Given the description of an element on the screen output the (x, y) to click on. 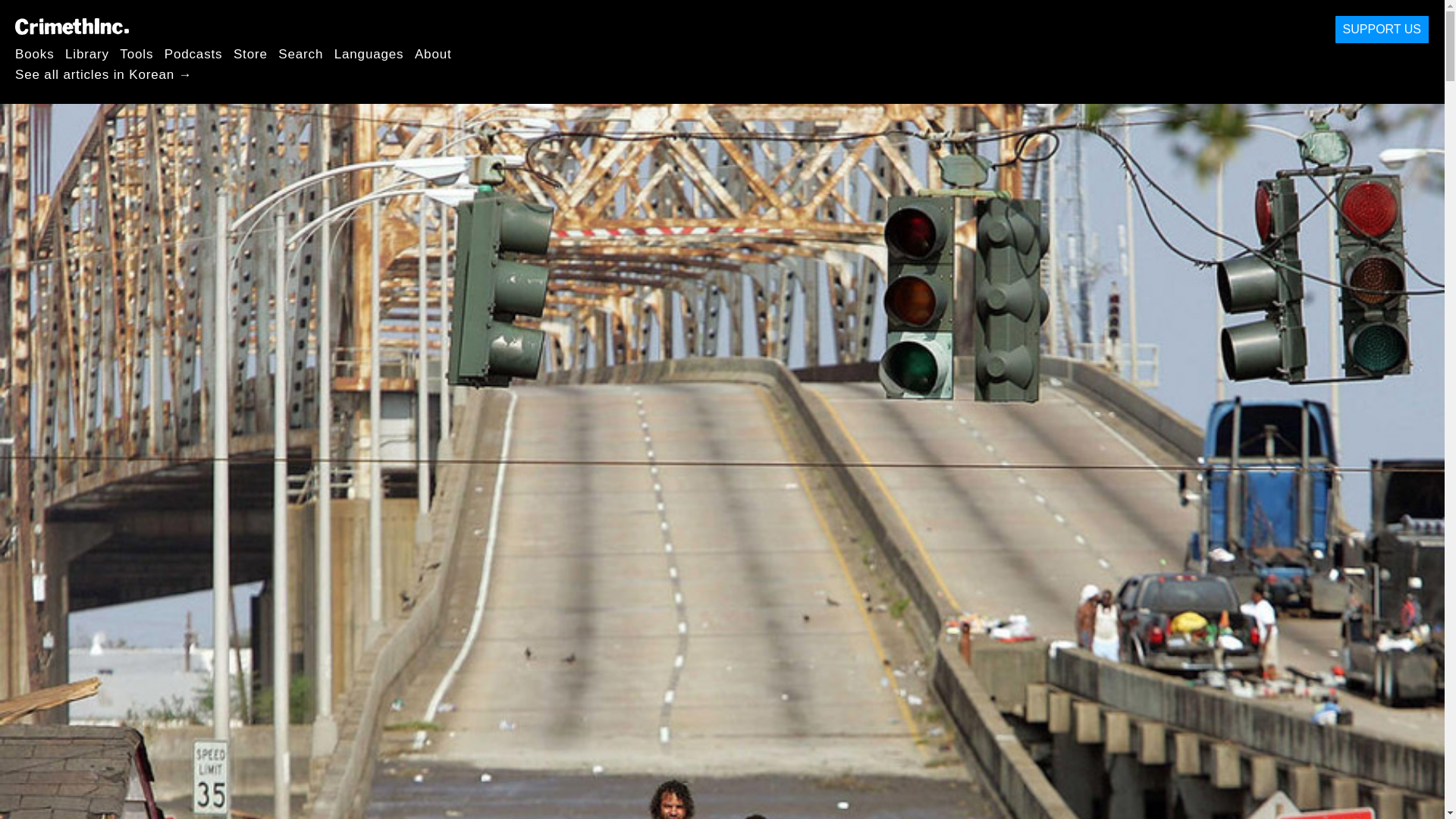
Languages (369, 53)
Store (249, 53)
Books (34, 53)
Search (300, 53)
Library (87, 53)
Podcasts (193, 53)
CrimethInc. (71, 26)
Tools (135, 53)
SUPPORT US (1382, 29)
About (432, 53)
